Given the description of an element on the screen output the (x, y) to click on. 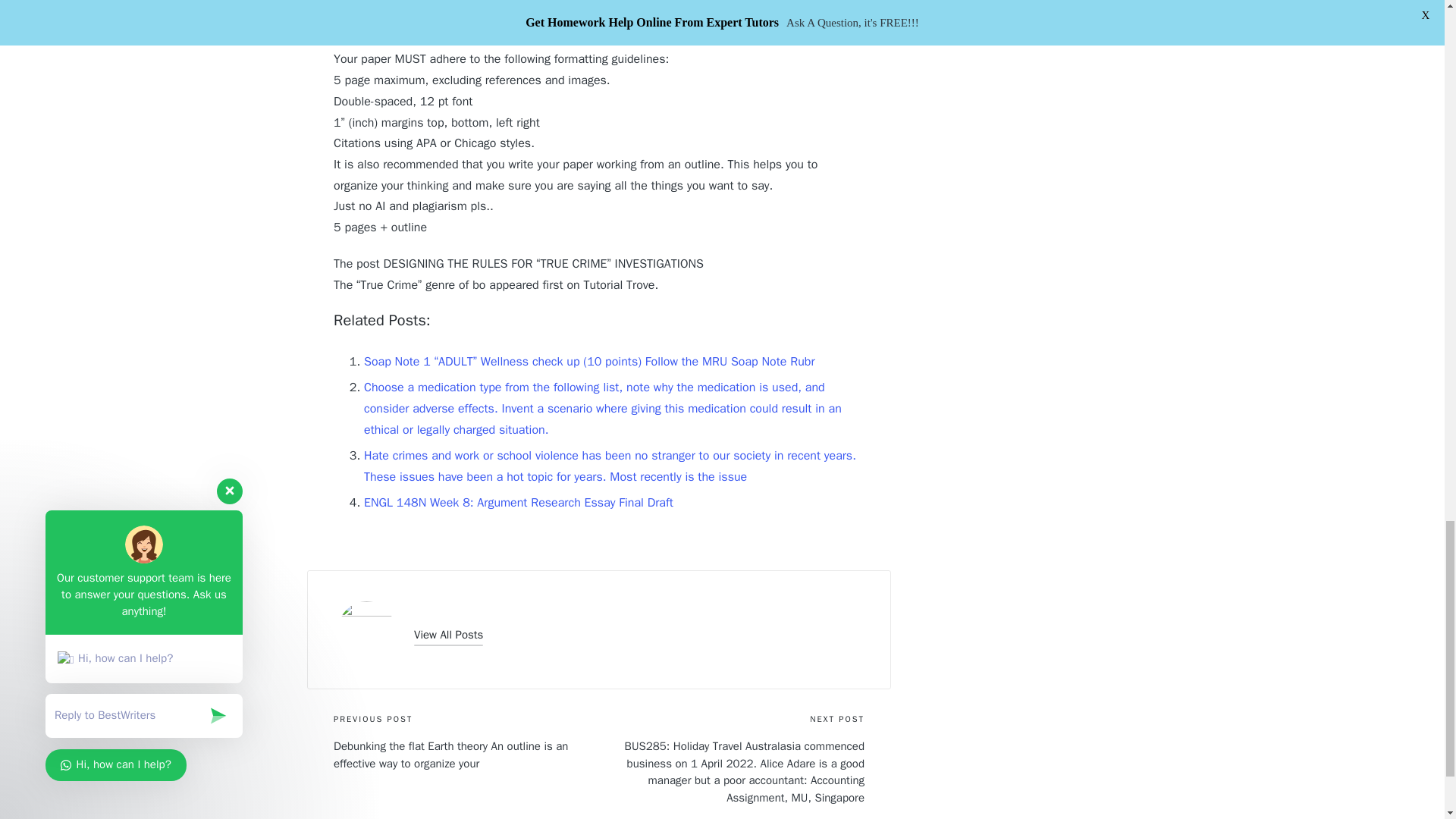
ENGL 148N Week 8: Argument Research Essay Final Draft (518, 502)
View All Posts (448, 634)
ENGL 148N Week 8: Argument Research Essay Final Draft (518, 502)
